Given the description of an element on the screen output the (x, y) to click on. 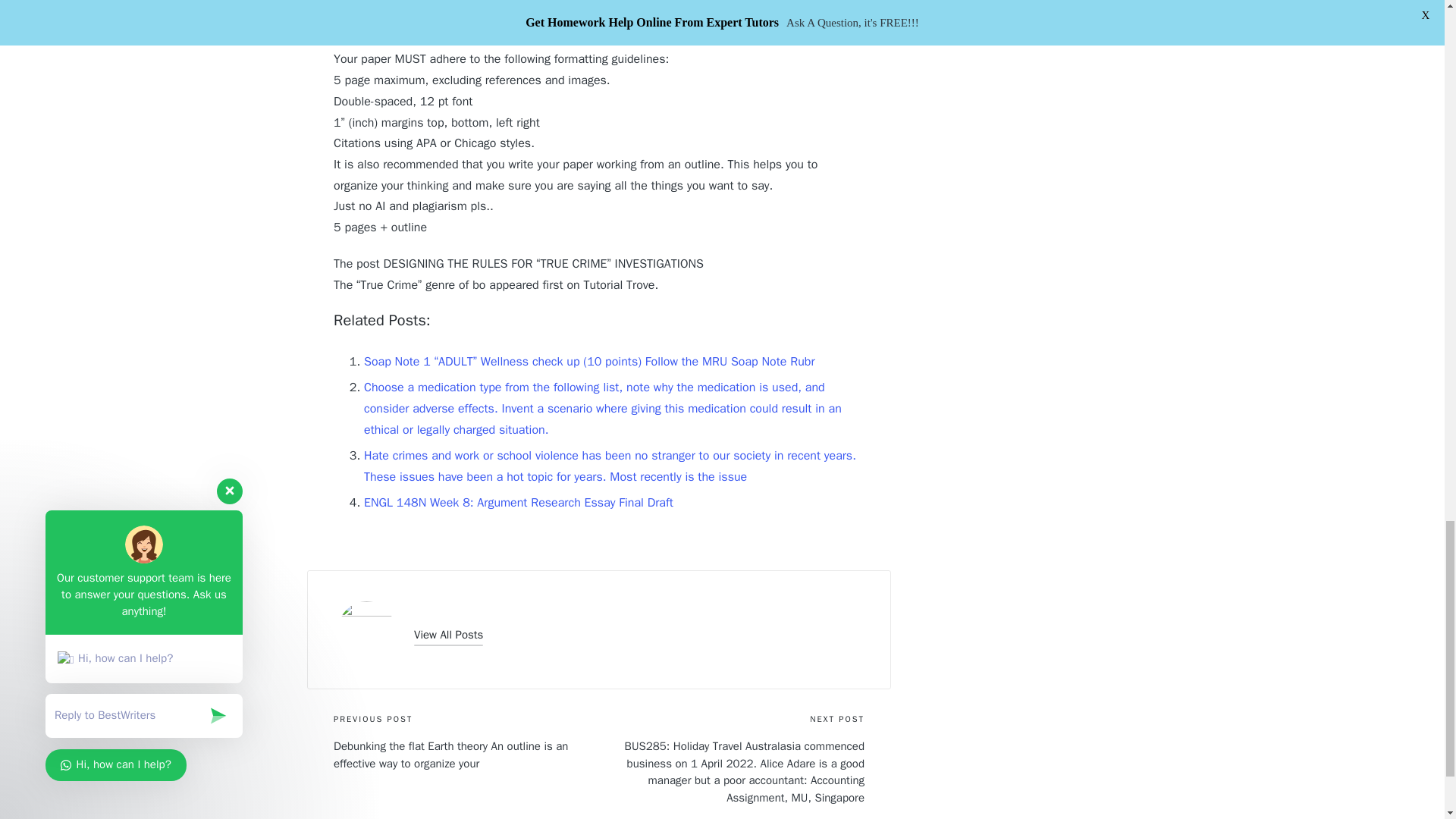
ENGL 148N Week 8: Argument Research Essay Final Draft (518, 502)
View All Posts (448, 634)
ENGL 148N Week 8: Argument Research Essay Final Draft (518, 502)
